Given the description of an element on the screen output the (x, y) to click on. 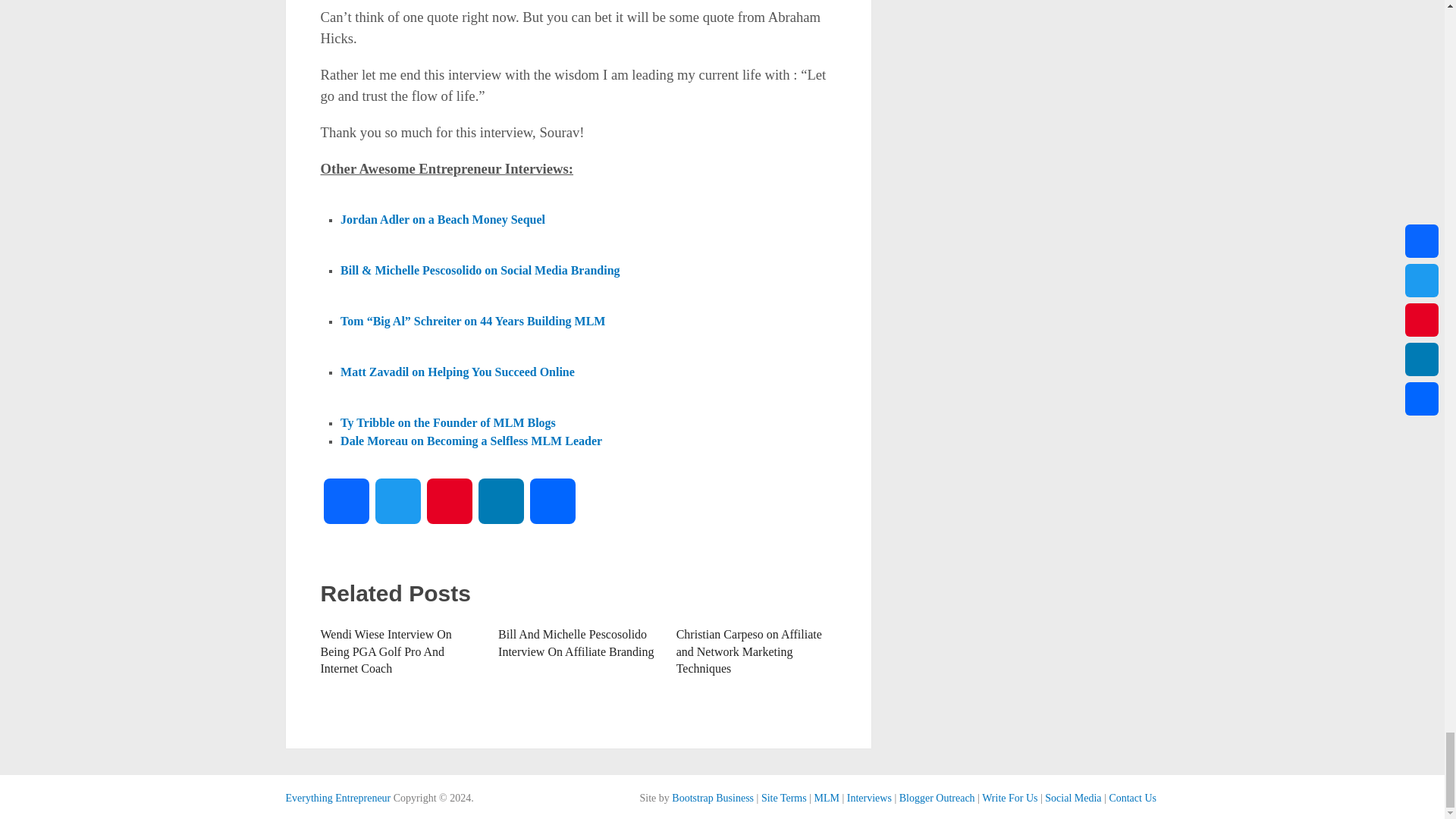
Dale Moreau on Becoming a Selfless MLM Leader (471, 440)
Jordan Adler on a Beach Money Sequel (442, 219)
Matt Zavadil on Helping You Succeed Online (457, 372)
Ty Tribble on the Founder of MLM Blogs (448, 422)
